Given the description of an element on the screen output the (x, y) to click on. 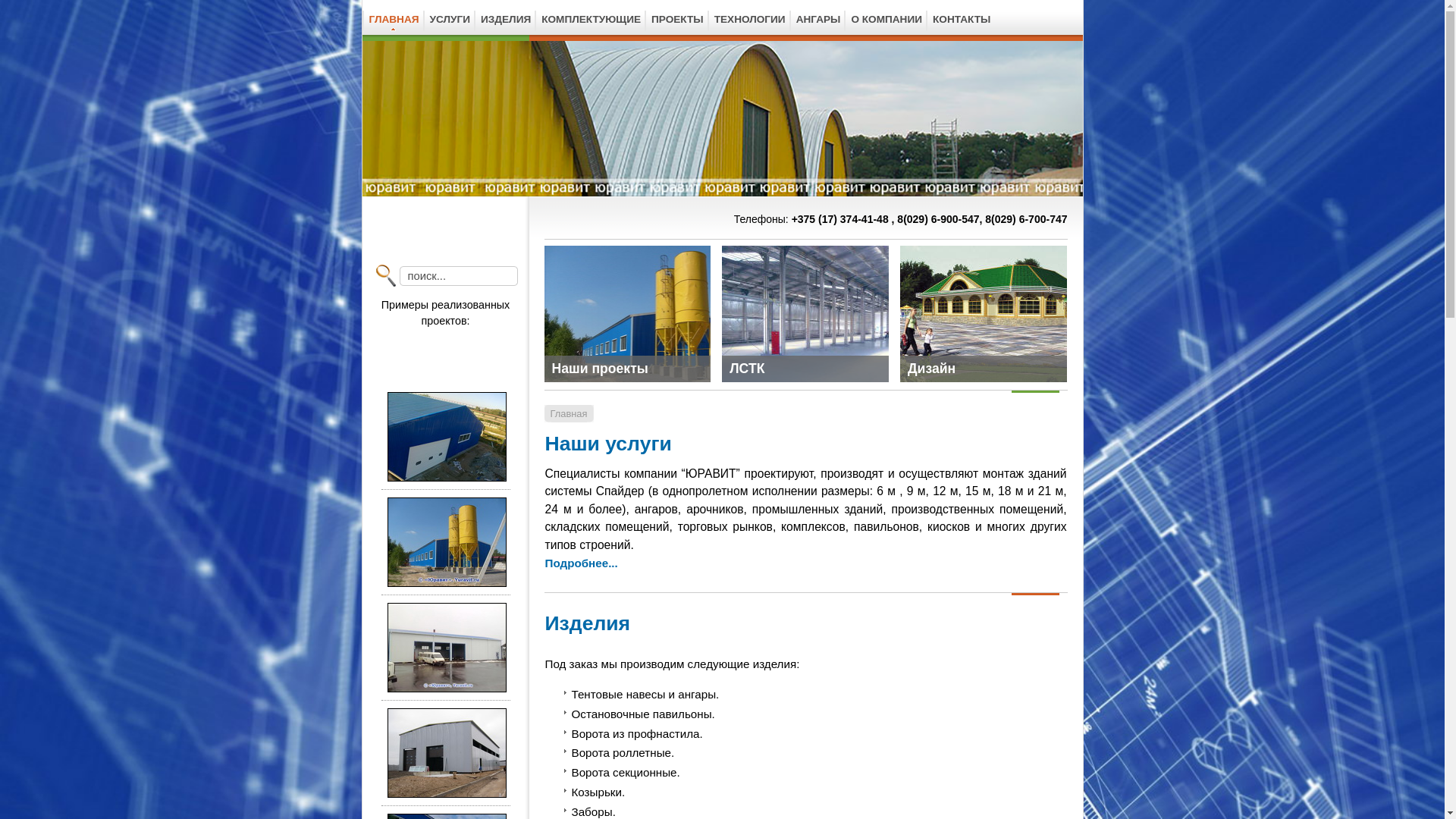
8(029) 6-900-547 Element type: text (936, 219)
8(029) 6-700-747 Element type: text (1025, 219)
+375 (17) 374-41-48 Element type: text (841, 219)
